Given the description of an element on the screen output the (x, y) to click on. 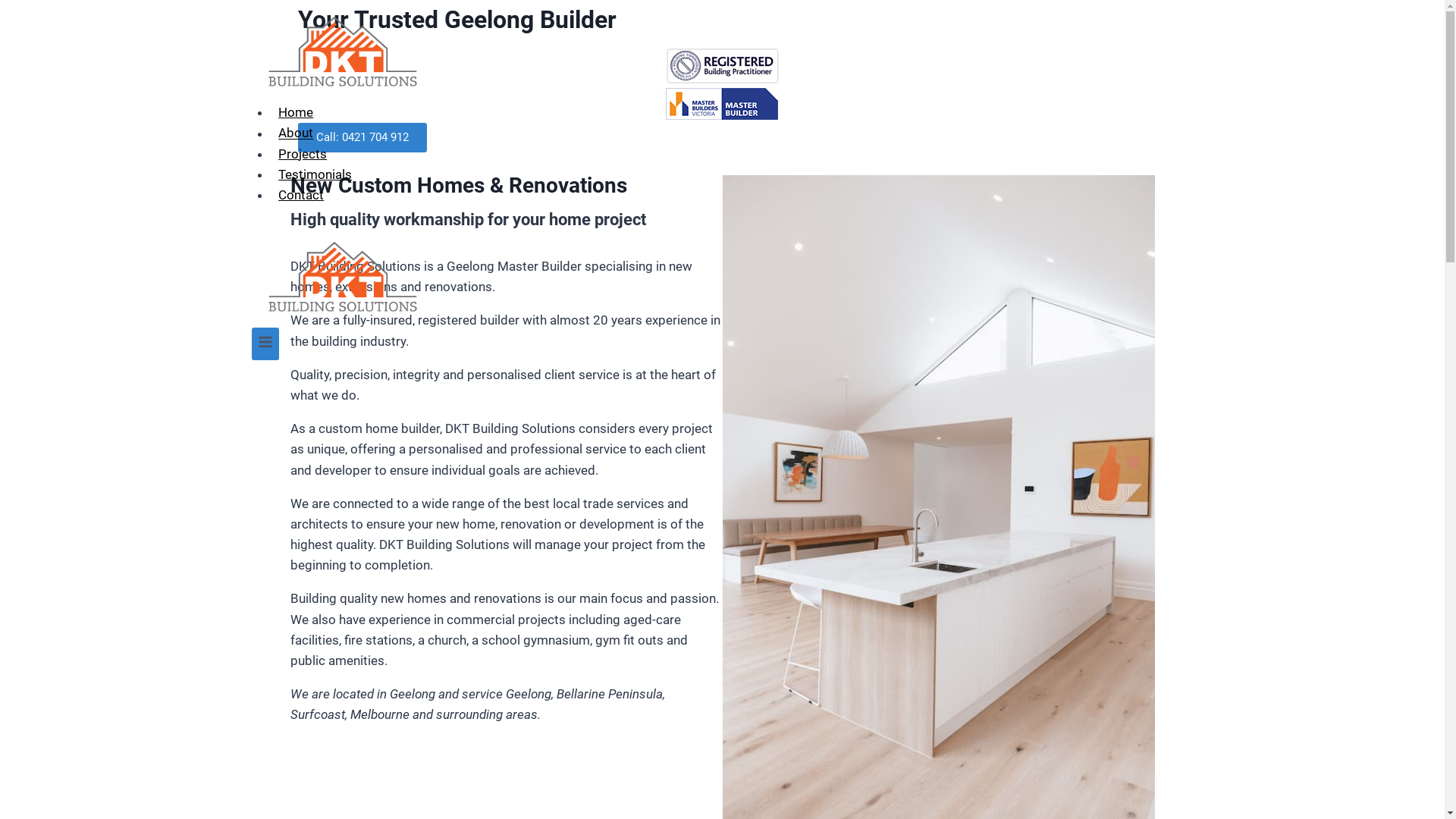
Contact Element type: text (300, 194)
Projects Element type: text (302, 153)
Home Element type: text (295, 112)
Call: 0421 704 912 Element type: text (361, 137)
Testimonials Element type: text (314, 174)
About Element type: text (295, 132)
